Given the description of an element on the screen output the (x, y) to click on. 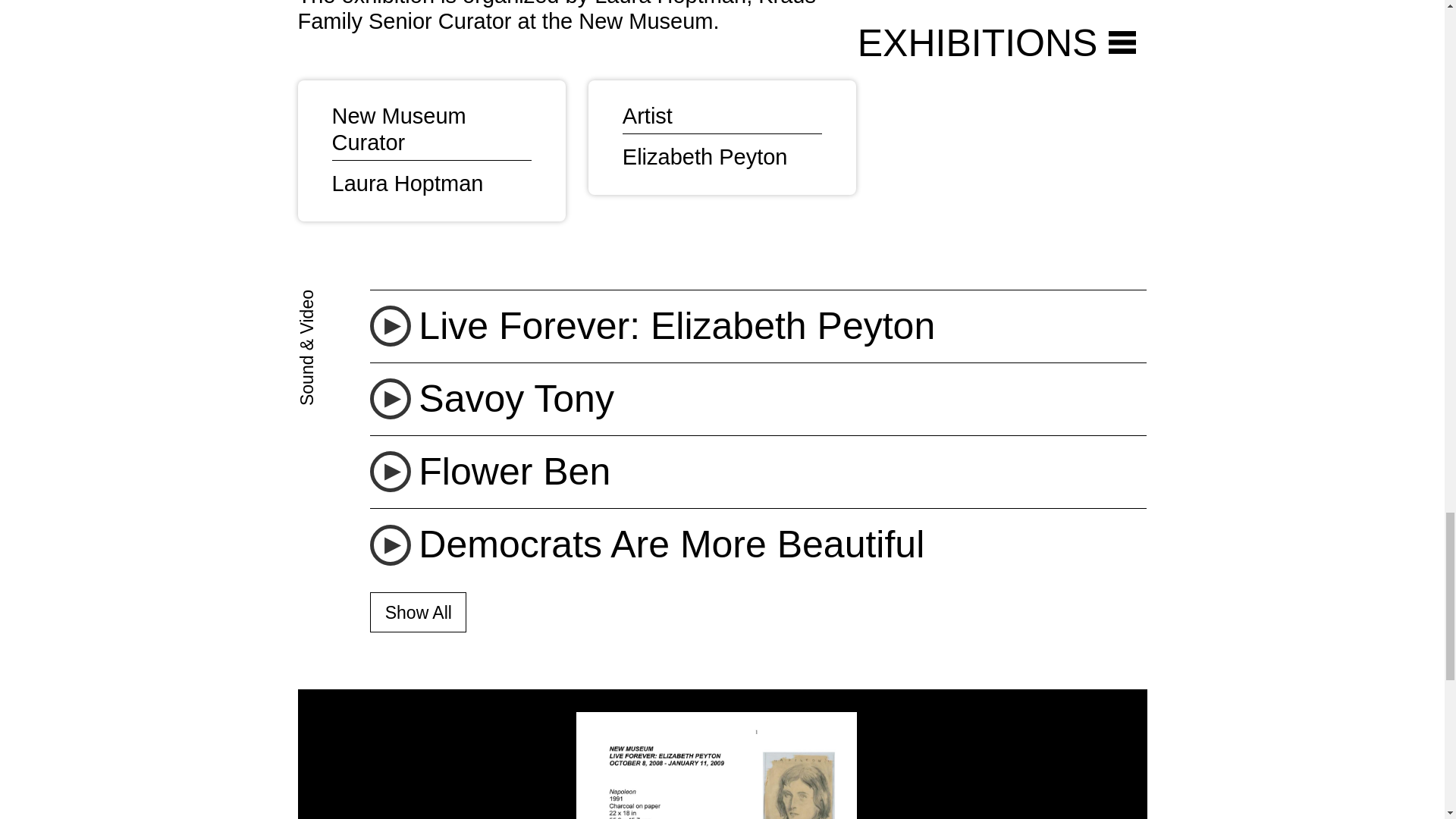
Laura Hoptman (407, 183)
Elizabeth Peyton (705, 156)
